Given the description of an element on the screen output the (x, y) to click on. 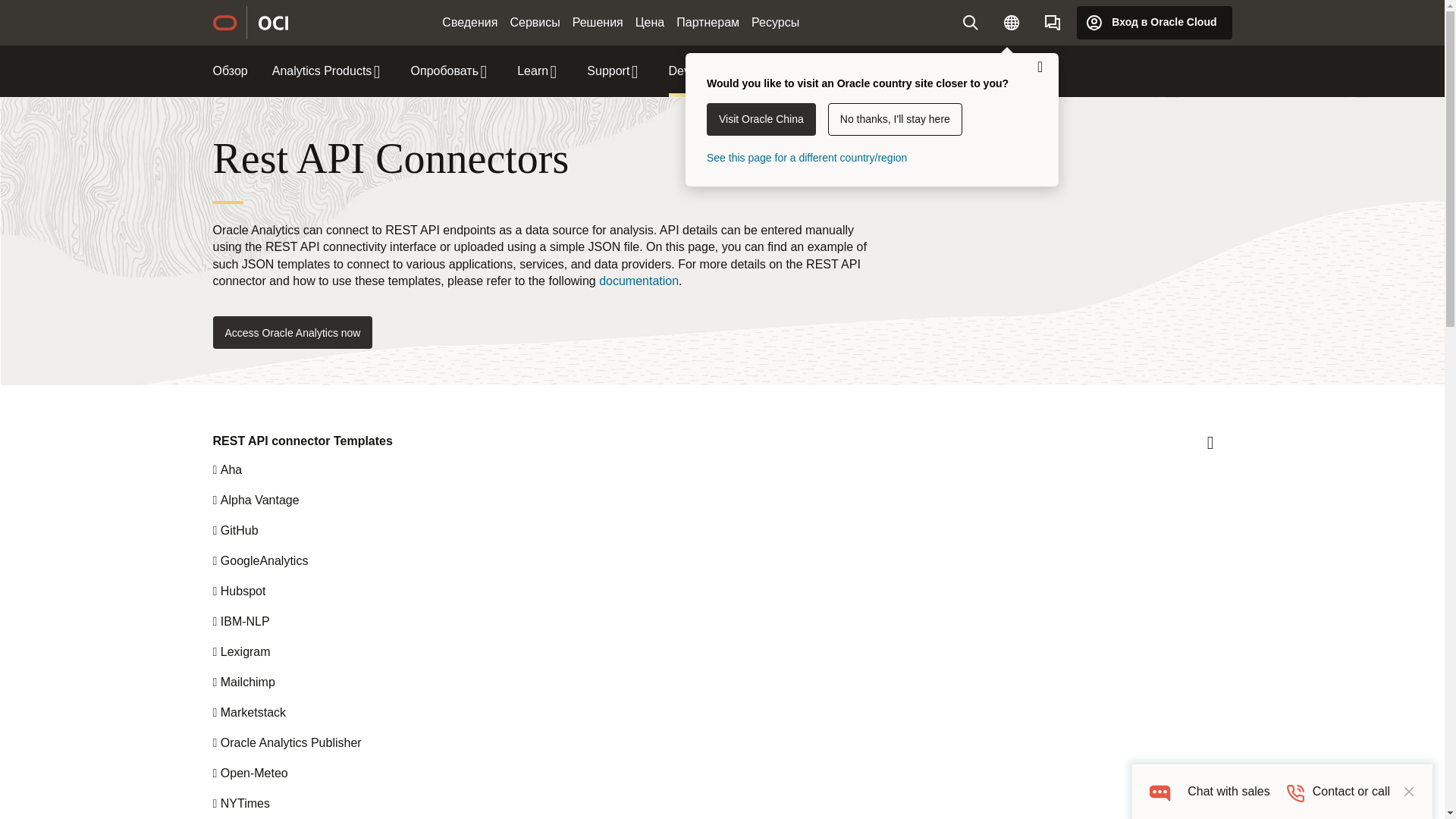
Country (1010, 22)
No thanks, I'll stay here (895, 119)
Visit Oracle China (760, 119)
